Given the description of an element on the screen output the (x, y) to click on. 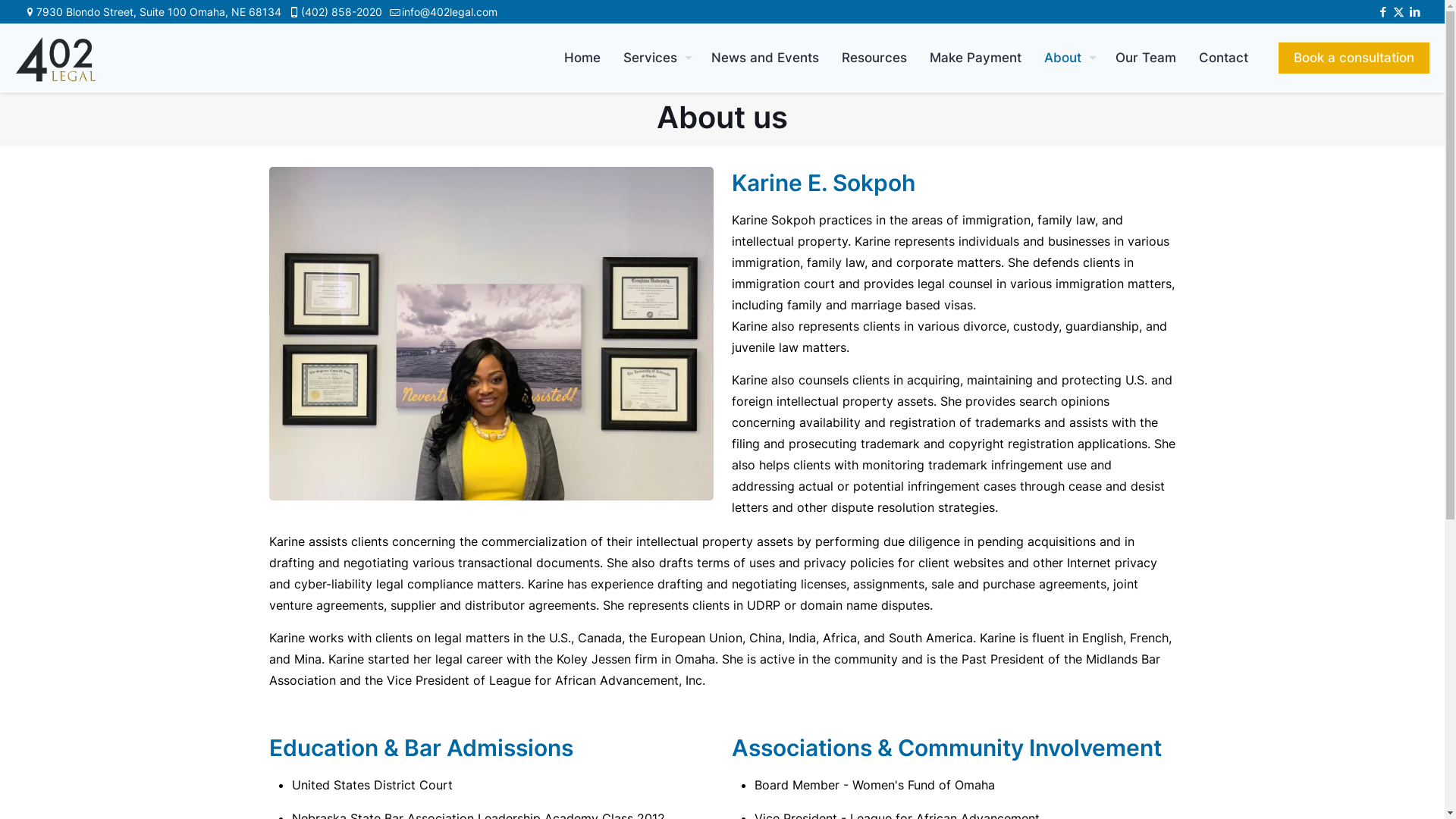
Book a consultation Element type: text (1353, 57)
News and Events Element type: text (764, 57)
LinkedIn Element type: hover (1414, 11)
X (Twitter) Element type: hover (1398, 11)
info@402legal.com Element type: text (449, 11)
Resources Element type: text (874, 57)
Home Element type: text (581, 57)
Our Team Element type: text (1145, 57)
(402) 858-2020 Element type: text (341, 11)
About Element type: text (1068, 57)
Facebook Element type: hover (1382, 11)
Contact Element type: text (1223, 57)
Make Payment Element type: text (975, 57)
Services Element type: text (655, 57)
402 Legal Element type: hover (55, 57)
